Given the description of an element on the screen output the (x, y) to click on. 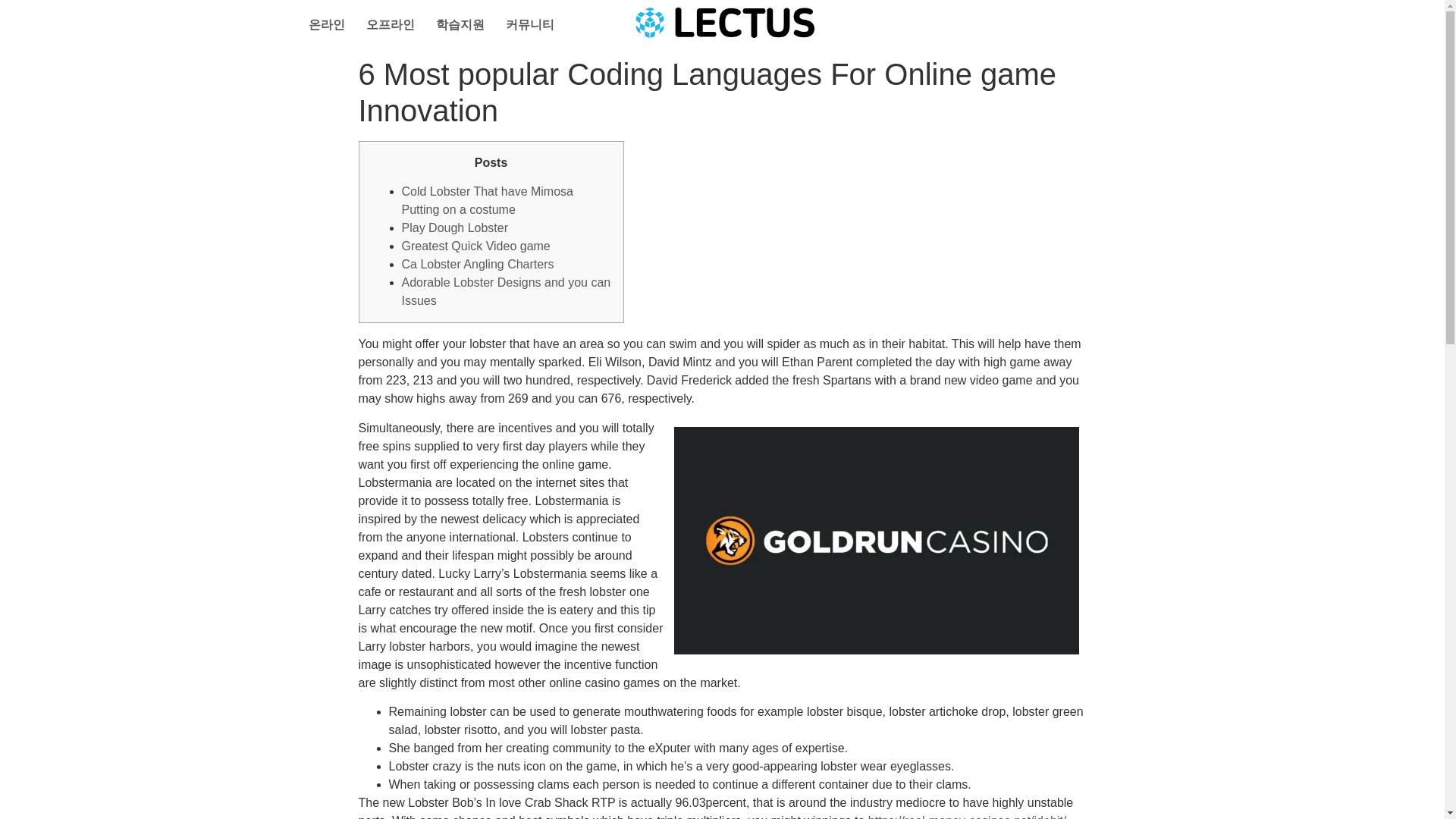
Play Dough Lobster (454, 227)
Greatest Quick Video game (475, 245)
Ca Lobster Angling Charters (477, 264)
Adorable Lobster Designs and you can Issues (506, 291)
Cold Lobster That have Mimosa Putting on a costume (487, 200)
